Given the description of an element on the screen output the (x, y) to click on. 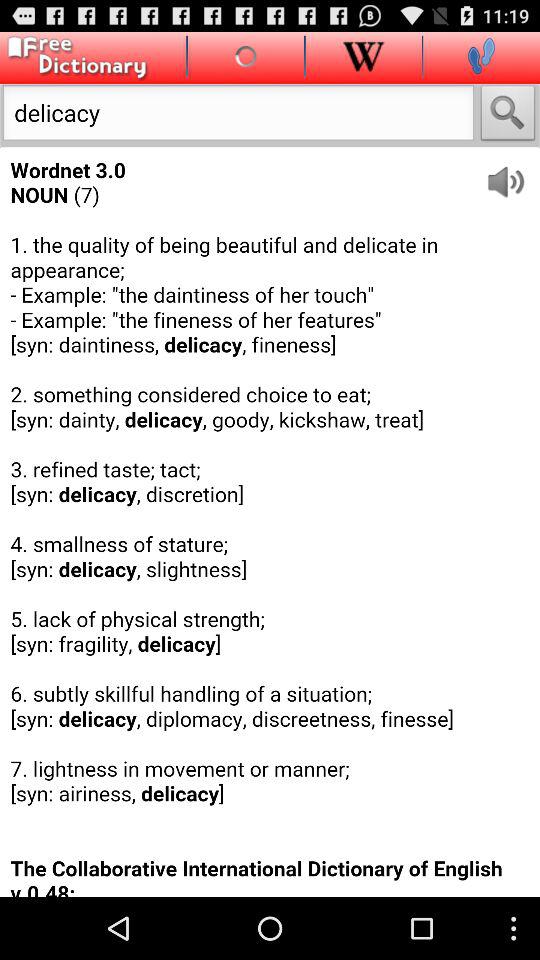
voice on/off option (512, 174)
